Given the description of an element on the screen output the (x, y) to click on. 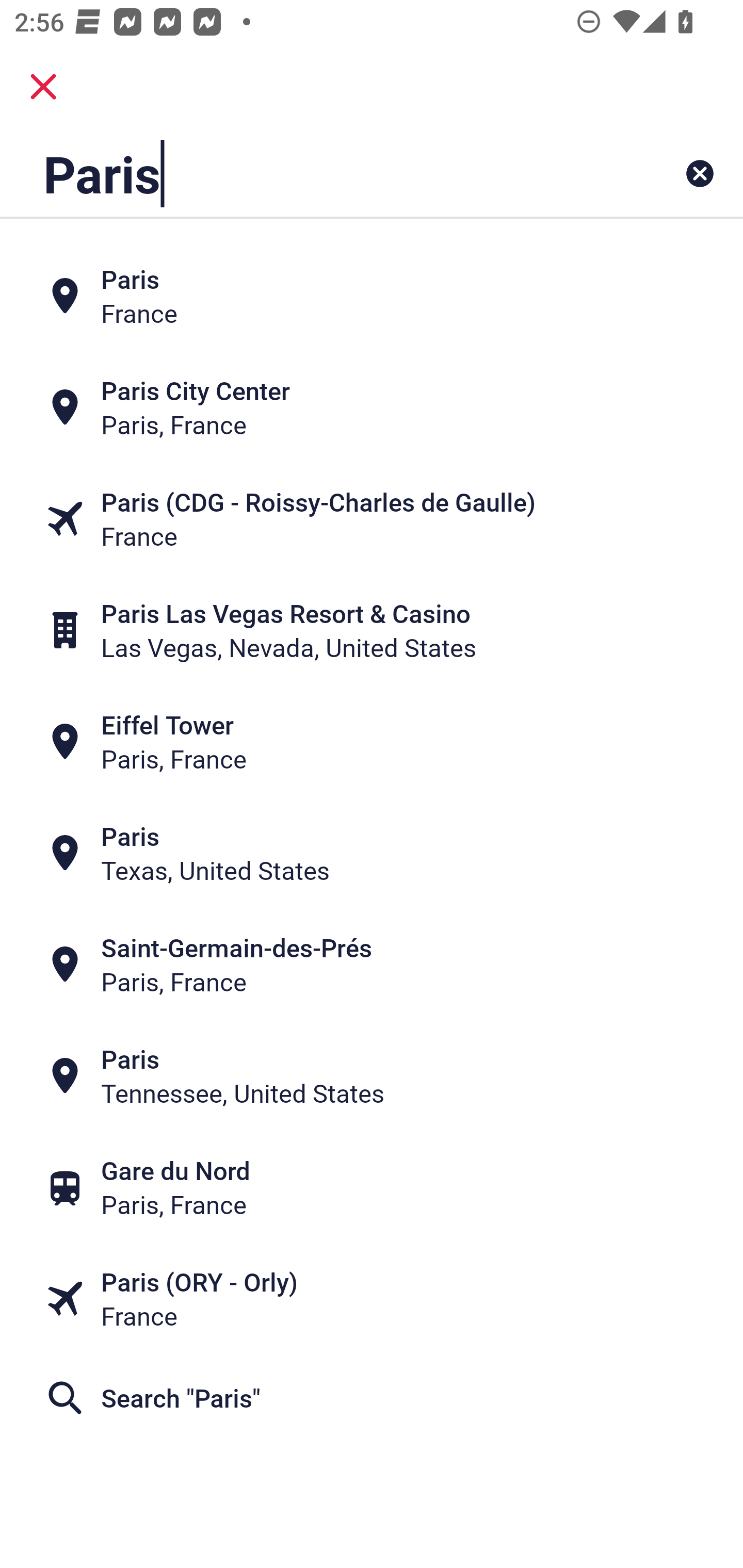
close. (43, 86)
Clear (699, 173)
Paris (306, 173)
Paris France (371, 295)
Paris City Center Paris, France (371, 406)
Paris (CDG - Roissy-Charles de Gaulle) France (371, 517)
Eiffel Tower Paris, France (371, 742)
Paris Texas, United States (371, 853)
Saint-Germain-des-Prés Paris, France (371, 964)
Paris Tennessee, United States (371, 1076)
Gare du Nord Paris, France (371, 1187)
Paris (ORY - Orly) France (371, 1298)
Search "Paris" (371, 1397)
